Given the description of an element on the screen output the (x, y) to click on. 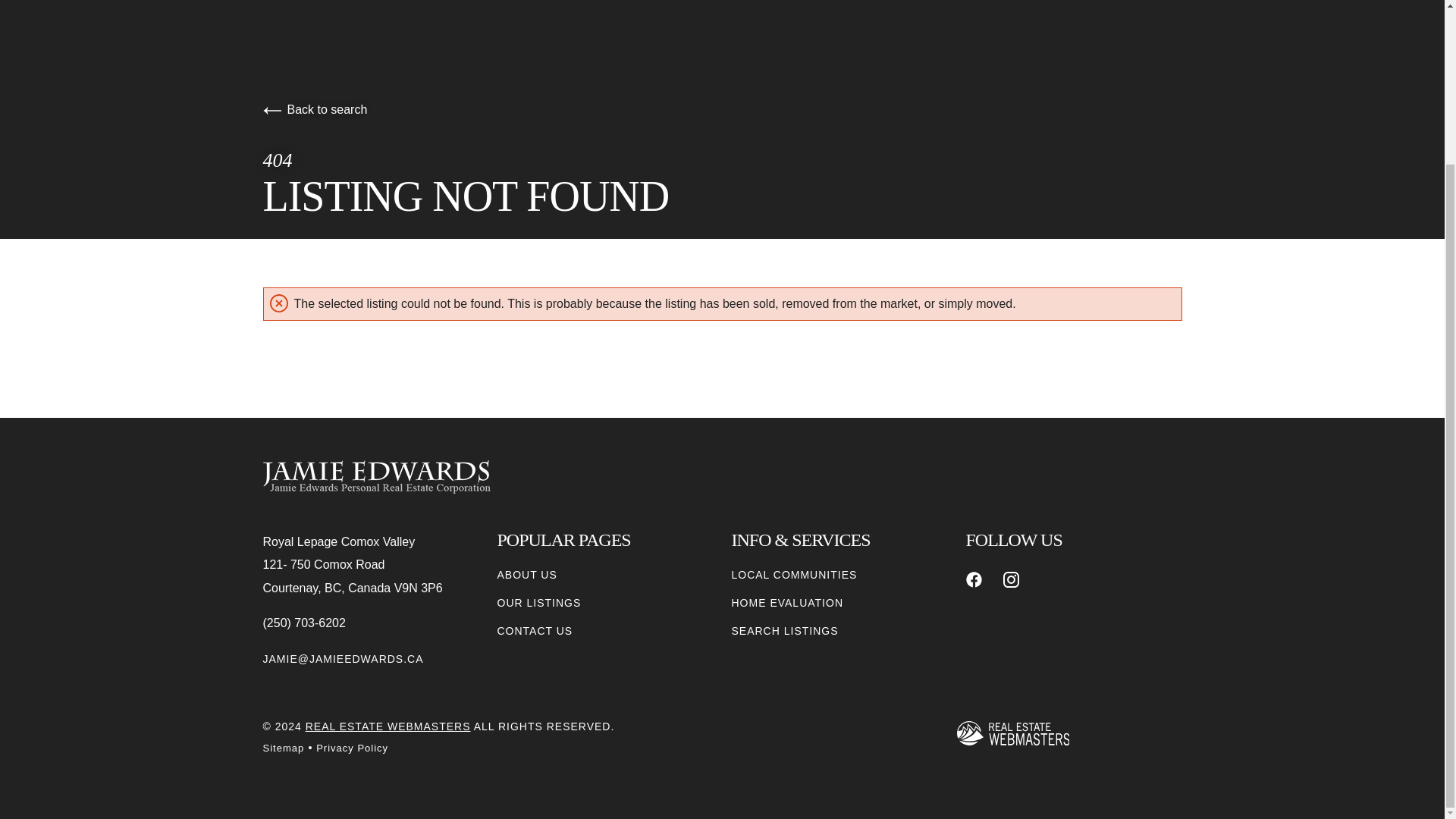
Back to search (314, 109)
FACEBOOK (973, 579)
ABOUT US (527, 575)
OUR LISTINGS (538, 602)
